Given the description of an element on the screen output the (x, y) to click on. 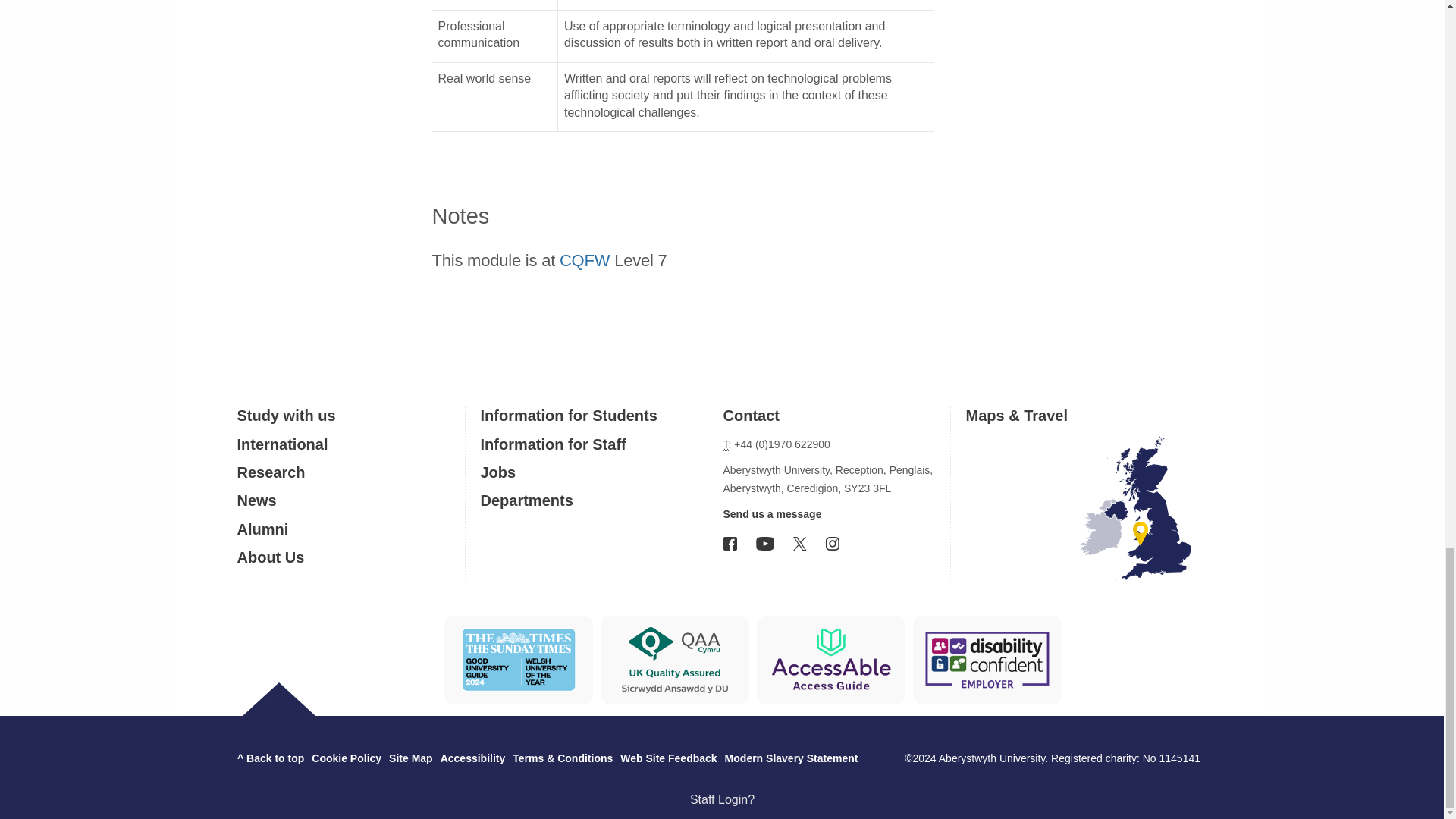
Accessibility information (473, 758)
Cookie Policy (346, 758)
Send us feedback on this web site. (668, 758)
A text map of this web site. (410, 758)
Modern Slavery Statement (792, 758)
